Given the description of an element on the screen output the (x, y) to click on. 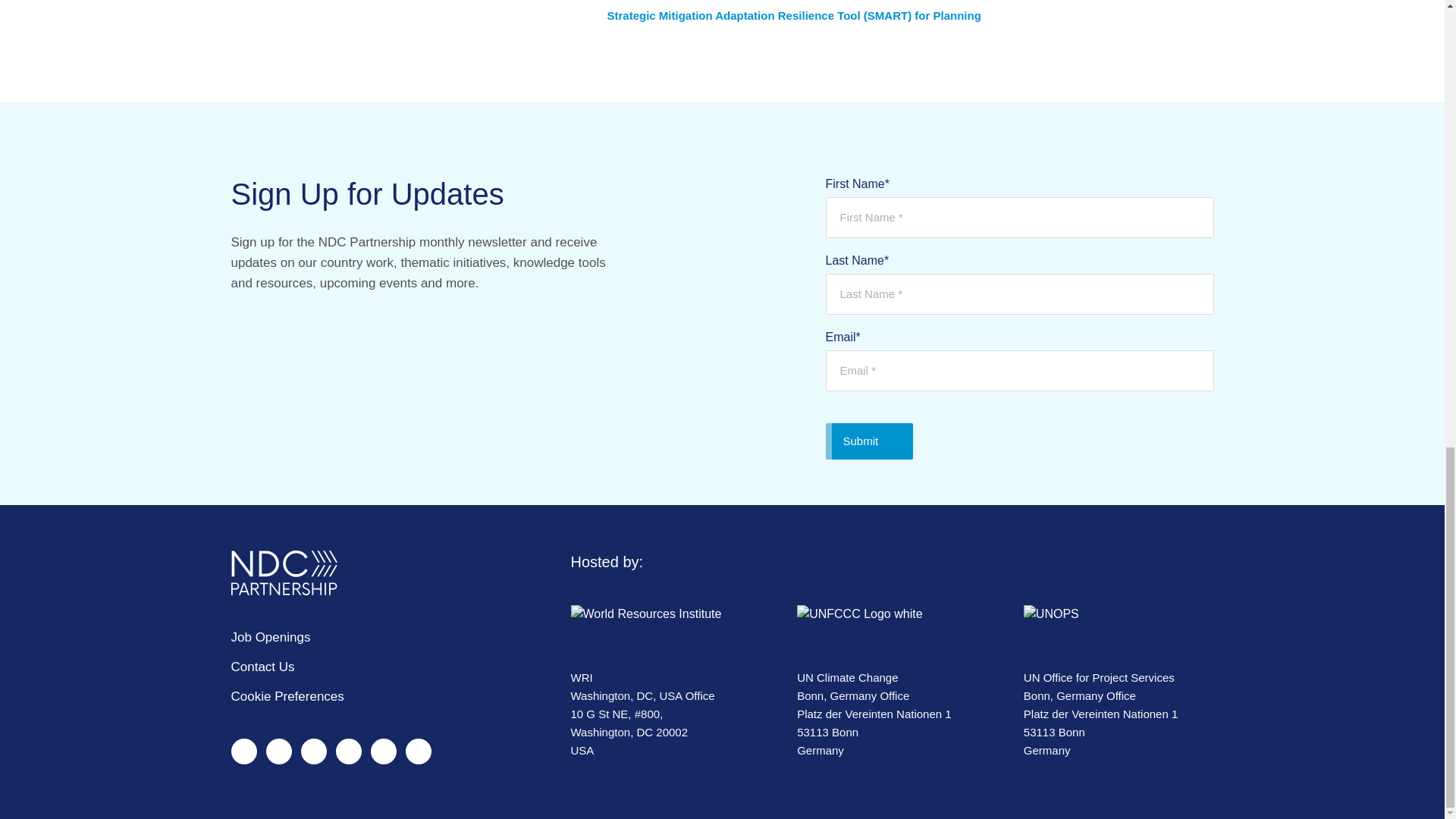
Manage privacy and cookie preferences (286, 696)
